Given the description of an element on the screen output the (x, y) to click on. 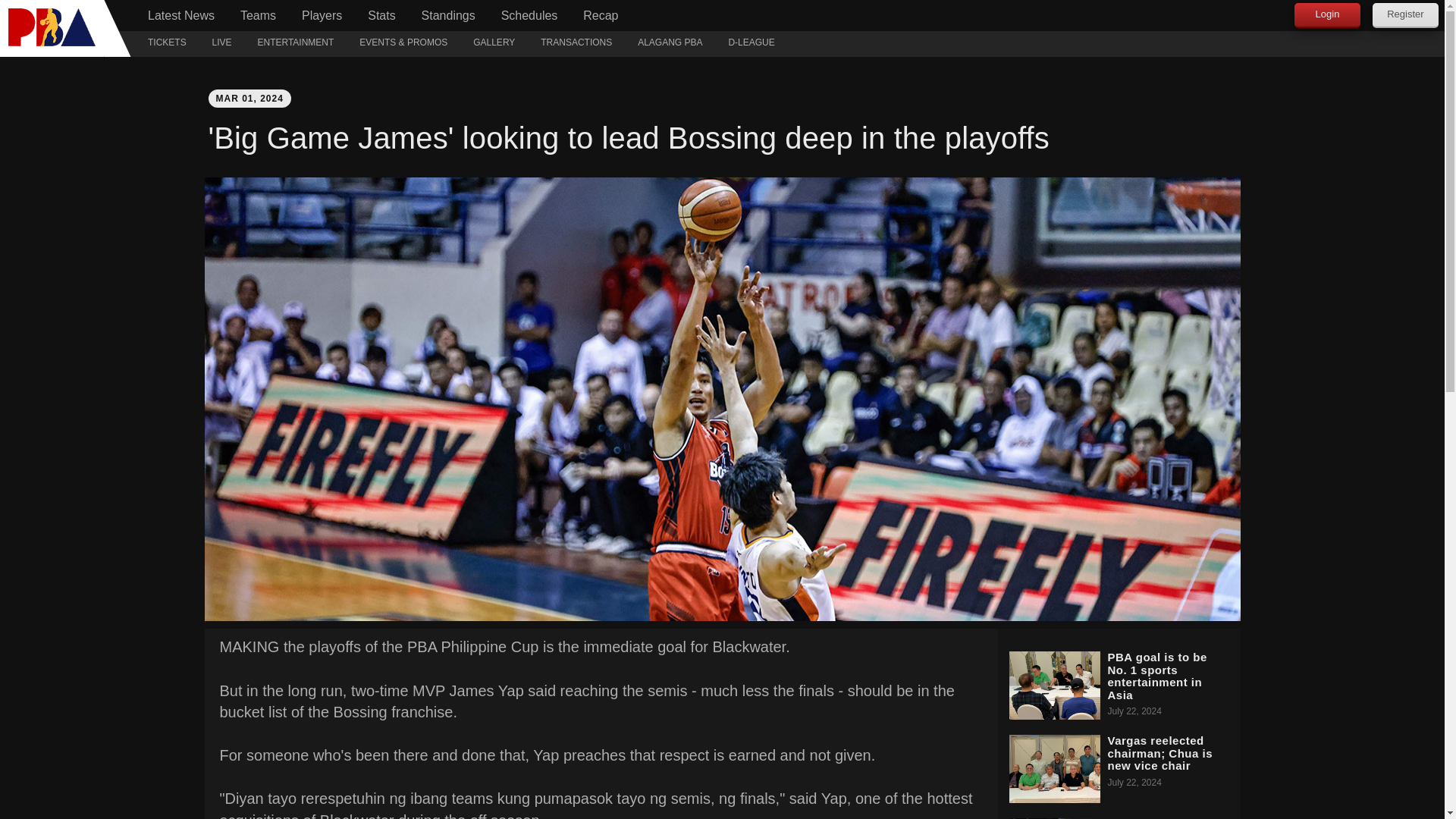
Stats (381, 15)
Standings (448, 15)
Login (1326, 15)
LIVE (221, 43)
D-LEAGUE (751, 43)
TICKETS (167, 43)
GALLERY (493, 43)
Recap (600, 15)
Schedules (529, 15)
Latest News (180, 15)
Teams (257, 15)
Players (321, 15)
ENTERTAINMENT (295, 43)
TRANSACTIONS (576, 43)
ALAGANG PBA (669, 43)
